Given the description of an element on the screen output the (x, y) to click on. 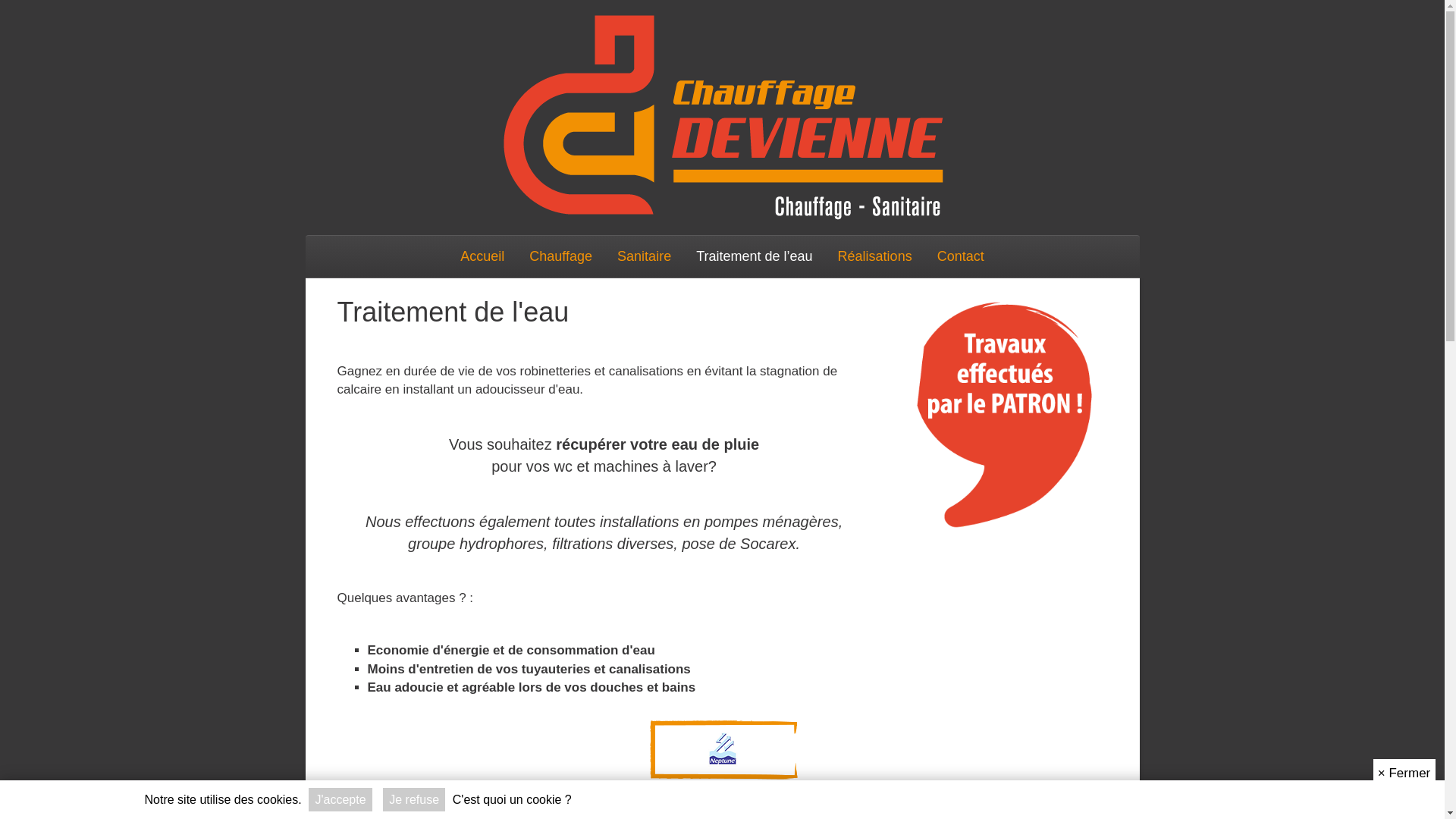
J'accepte Element type: text (339, 799)
Chauffage Element type: text (560, 256)
Accueil Element type: text (481, 256)
Contact Element type: text (960, 256)
Je refuse Element type: text (413, 799)
Sanitaire Element type: text (643, 256)
C'est quoi un cookie ? Element type: text (511, 799)
